Given the description of an element on the screen output the (x, y) to click on. 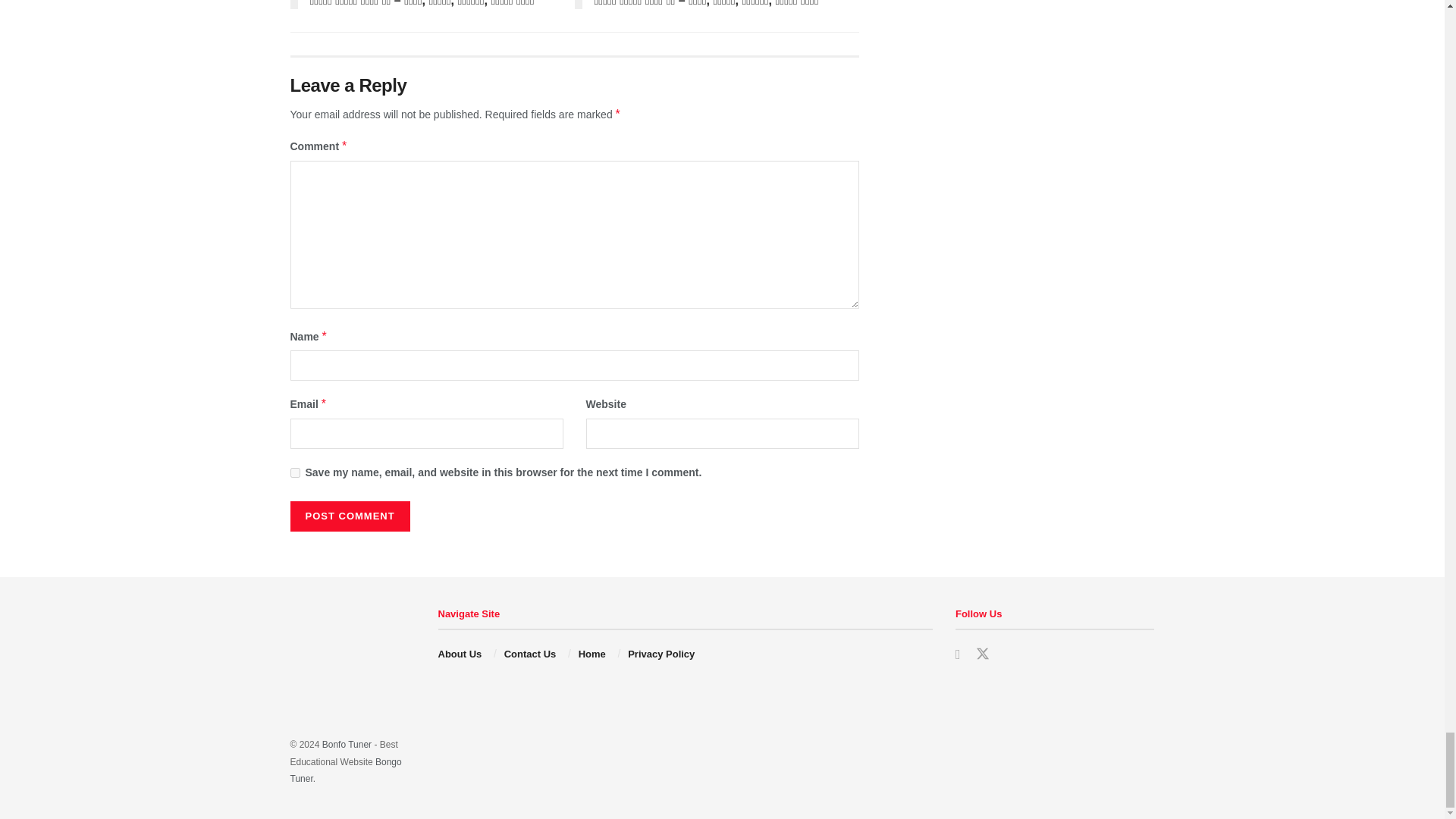
Best Educational Website (346, 744)
yes (294, 472)
Bongo Tuner (345, 769)
Post Comment (349, 516)
